Given the description of an element on the screen output the (x, y) to click on. 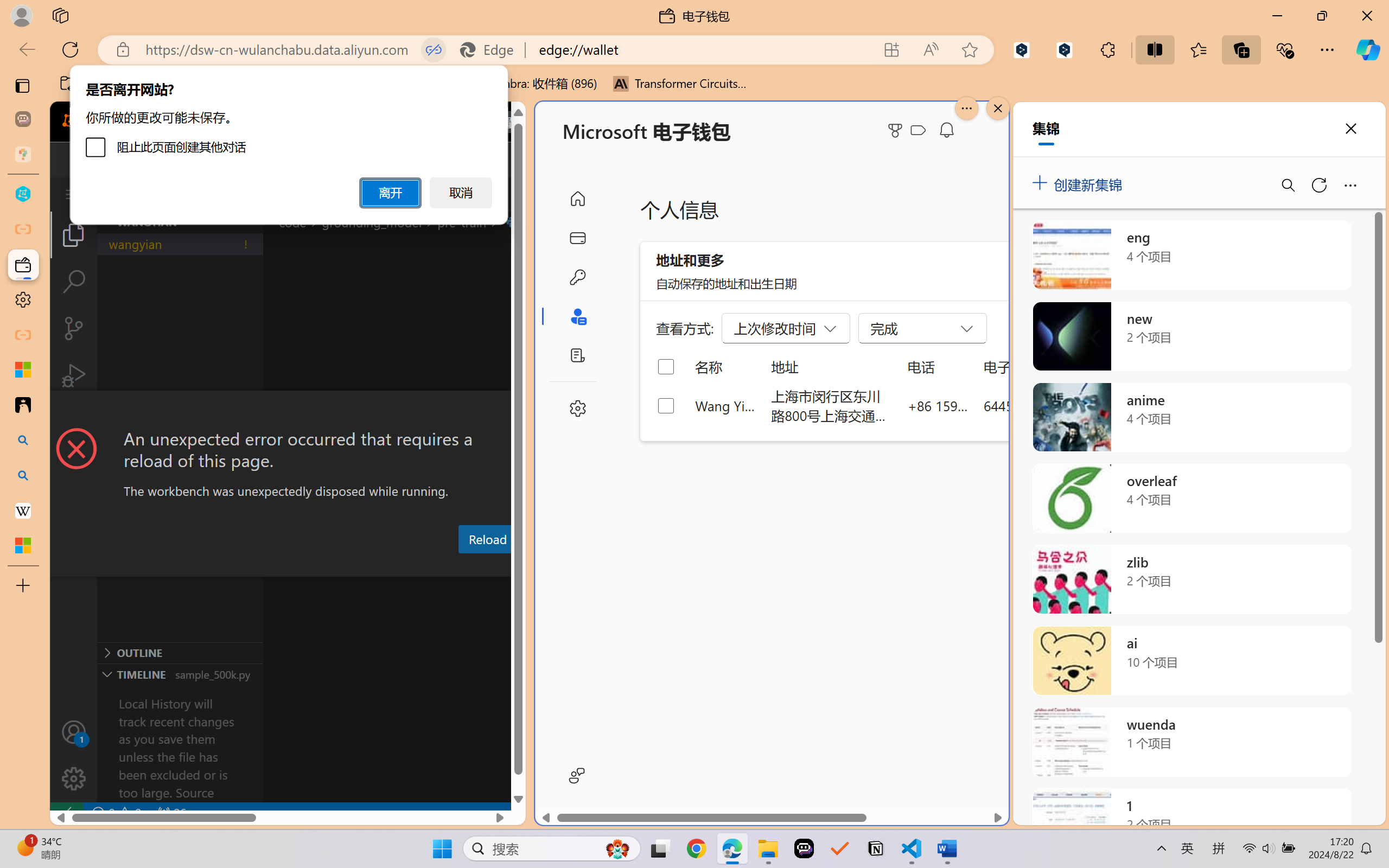
Output (Ctrl+Shift+U) (377, 565)
Accounts - Sign in requested (73, 732)
